Given the description of an element on the screen output the (x, y) to click on. 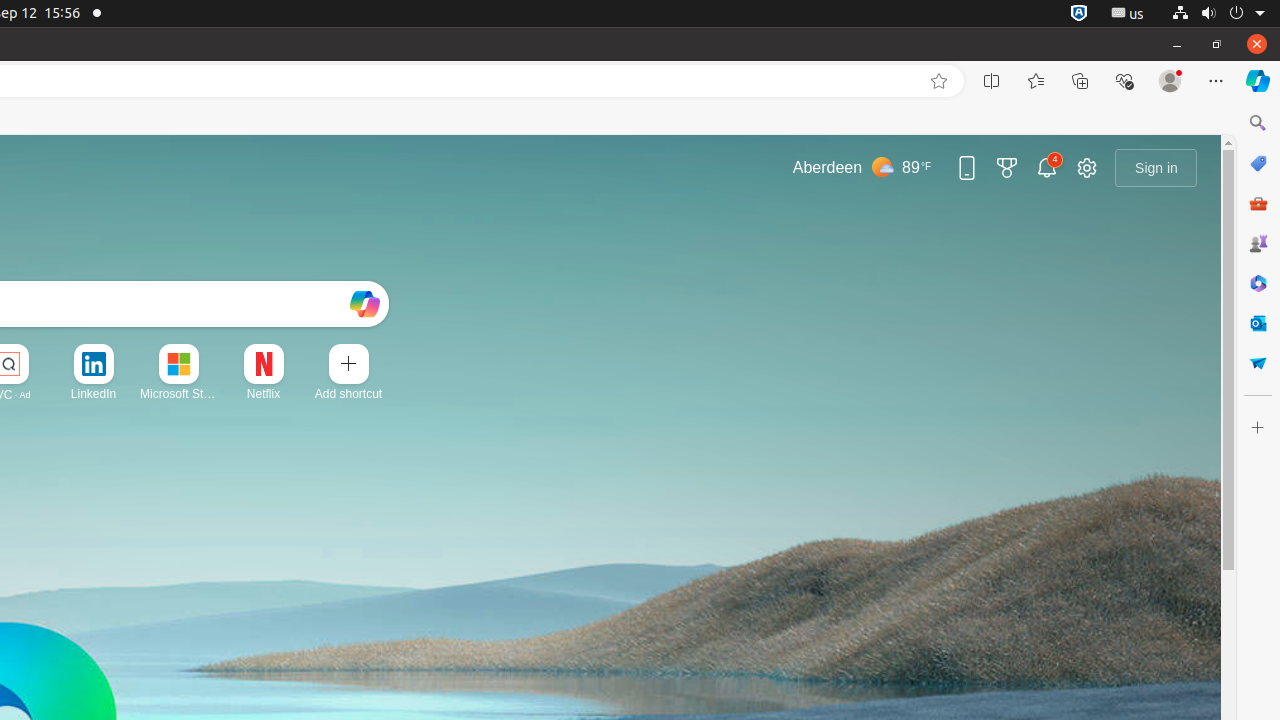
:1.72/StatusNotifierItem Element type: menu (1079, 13)
:1.21/StatusNotifierItem Element type: menu (1127, 13)
Click to sign into Microsoft Edge Element type: push-button (1156, 168)
Page settings Element type: push-button (1087, 168)
Add this page to favorites (Ctrl+D) Element type: push-button (939, 81)
